Given the description of an element on the screen output the (x, y) to click on. 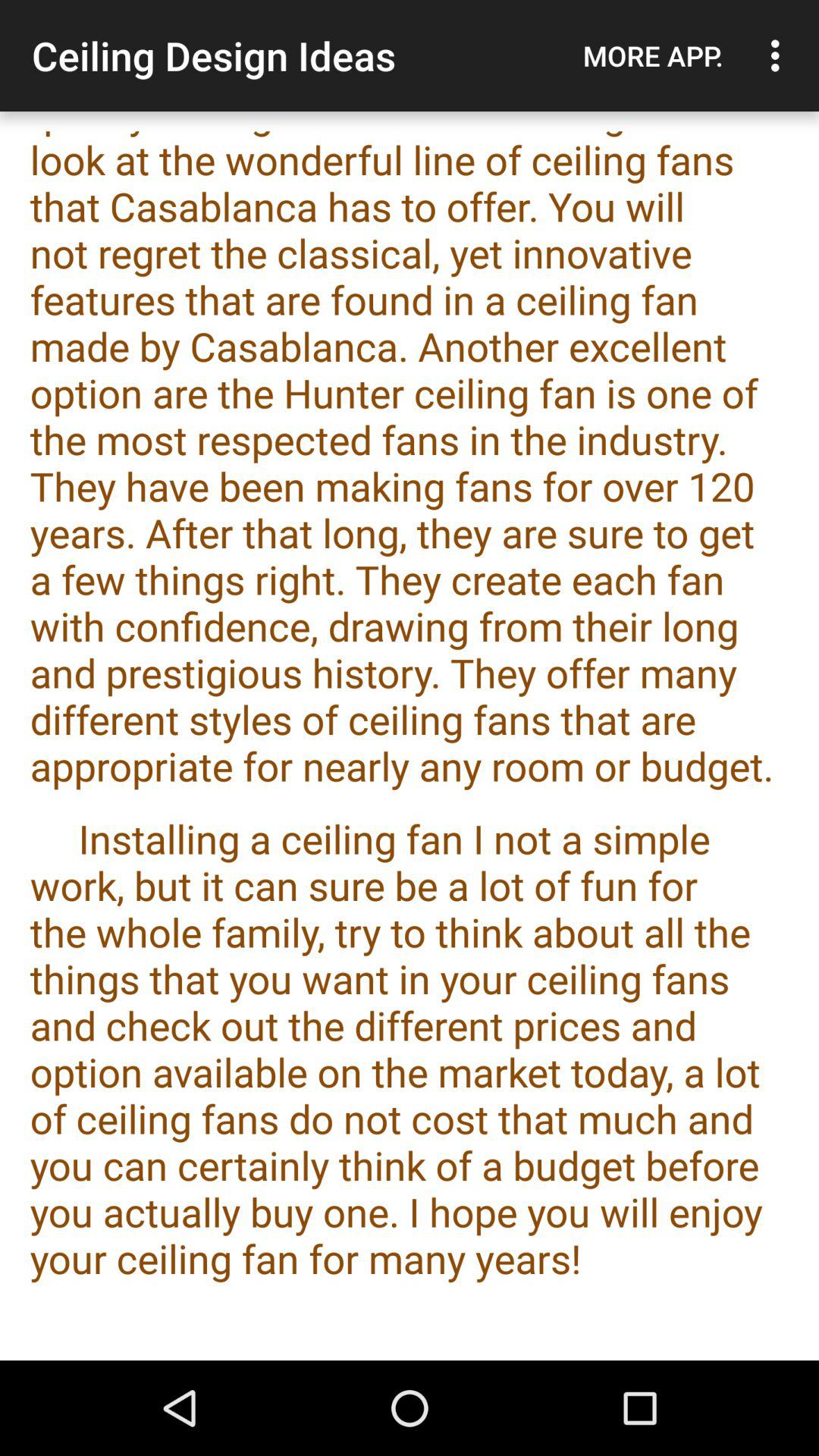
turn on the app next to the ceiling design ideas item (653, 55)
